Given the description of an element on the screen output the (x, y) to click on. 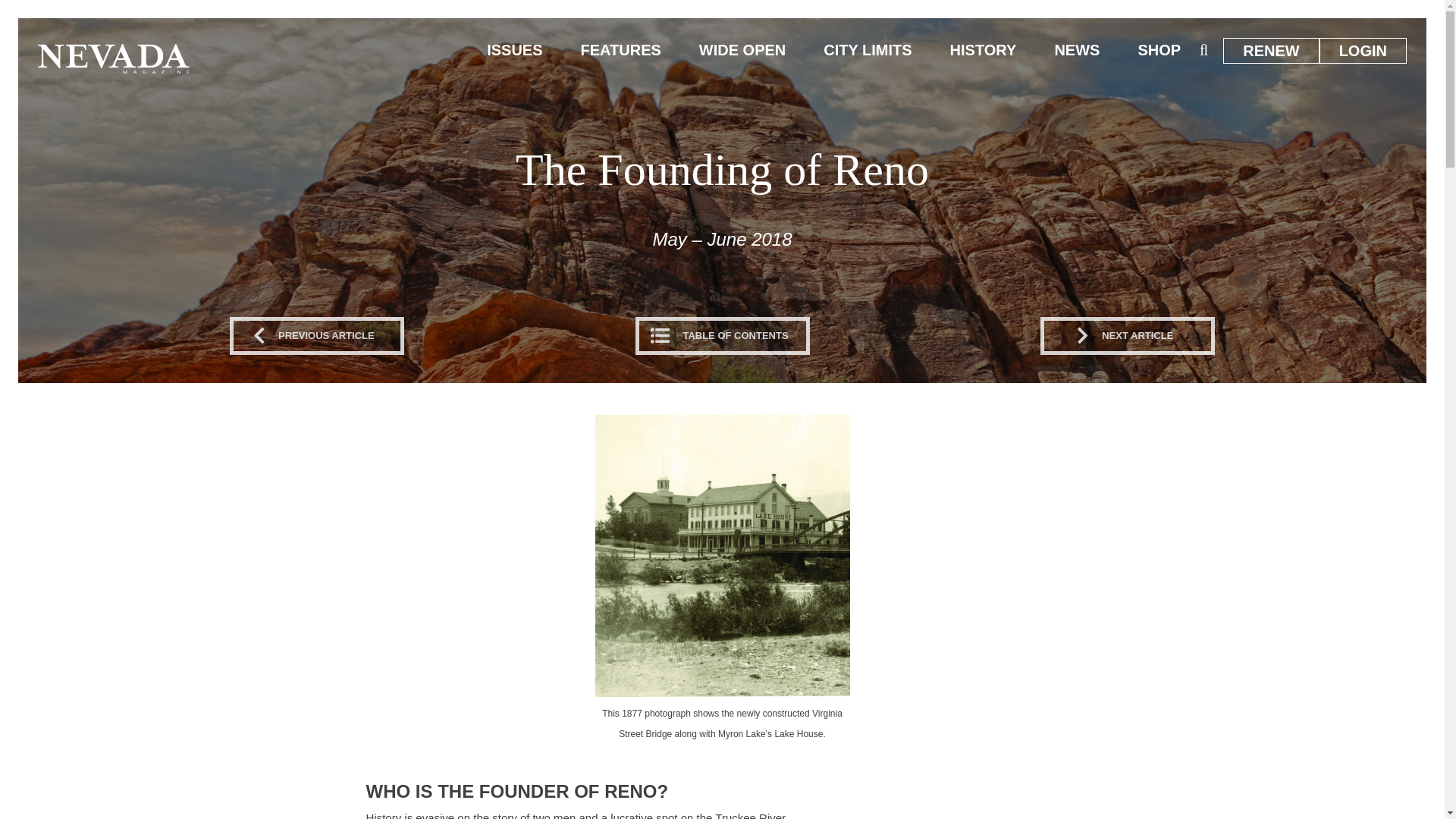
Nevada Magazine (113, 58)
RENEW (1270, 50)
FEATURES (620, 49)
WIDE OPEN (742, 49)
CITY LIMITS (867, 49)
NEWS (1076, 49)
HISTORY (983, 49)
LOGIN (1363, 50)
ISSUES (513, 49)
SHOP (1158, 49)
